Given the description of an element on the screen output the (x, y) to click on. 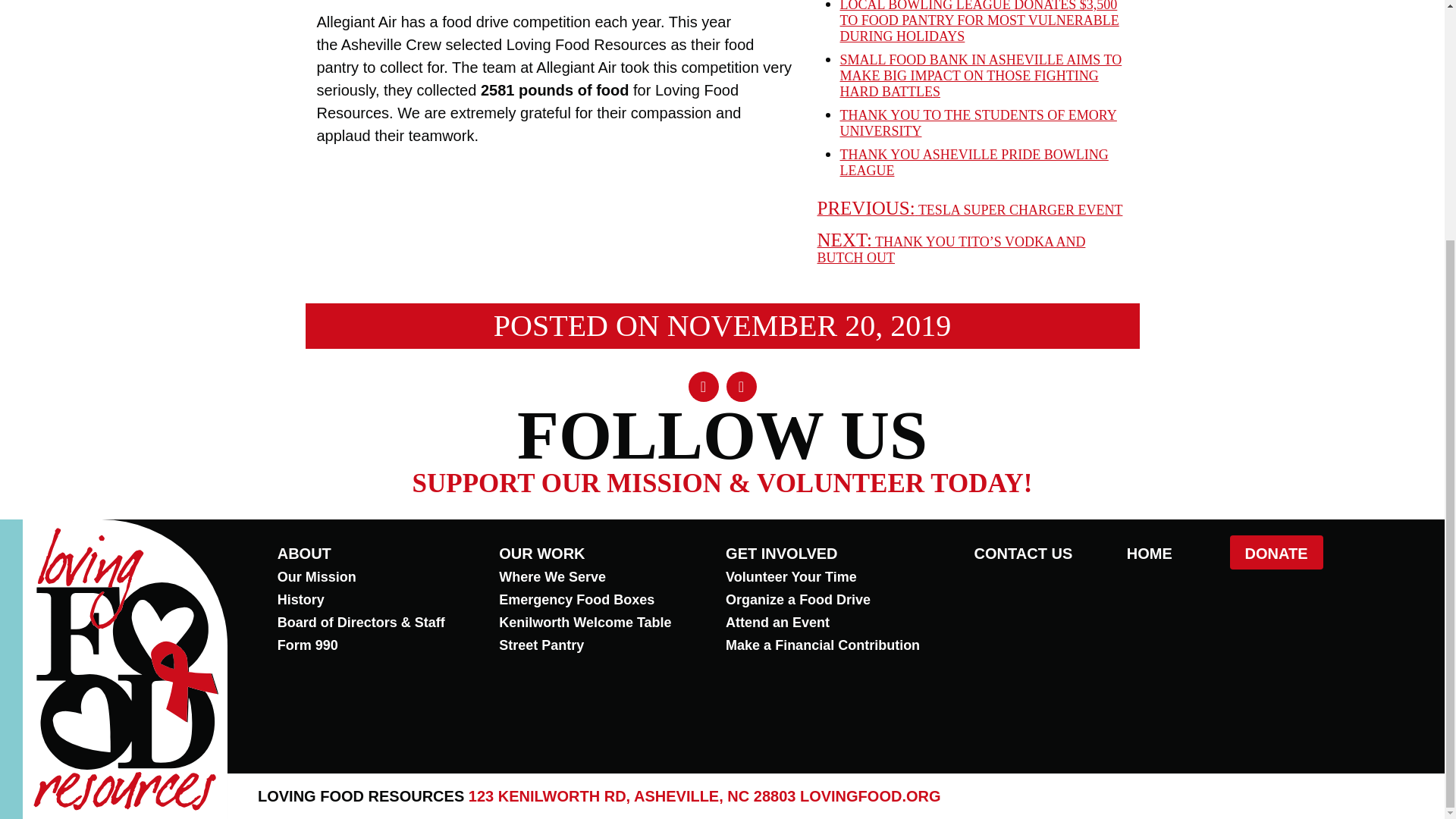
ABOUT (304, 553)
Our Mission (317, 576)
Emergency Food Boxes (576, 599)
OUR WORK (542, 553)
THANK YOU ASHEVILLE PRIDE BOWLING LEAGUE (974, 162)
PREVIOUS: TESLA SUPER CHARGER EVENT (969, 209)
Kenilworth Welcome Table (585, 622)
THANK YOU TO THE STUDENTS OF EMORY UNIVERSITY (978, 122)
History (301, 599)
Form 990 (307, 645)
Where We Serve (552, 576)
